Given the description of an element on the screen output the (x, y) to click on. 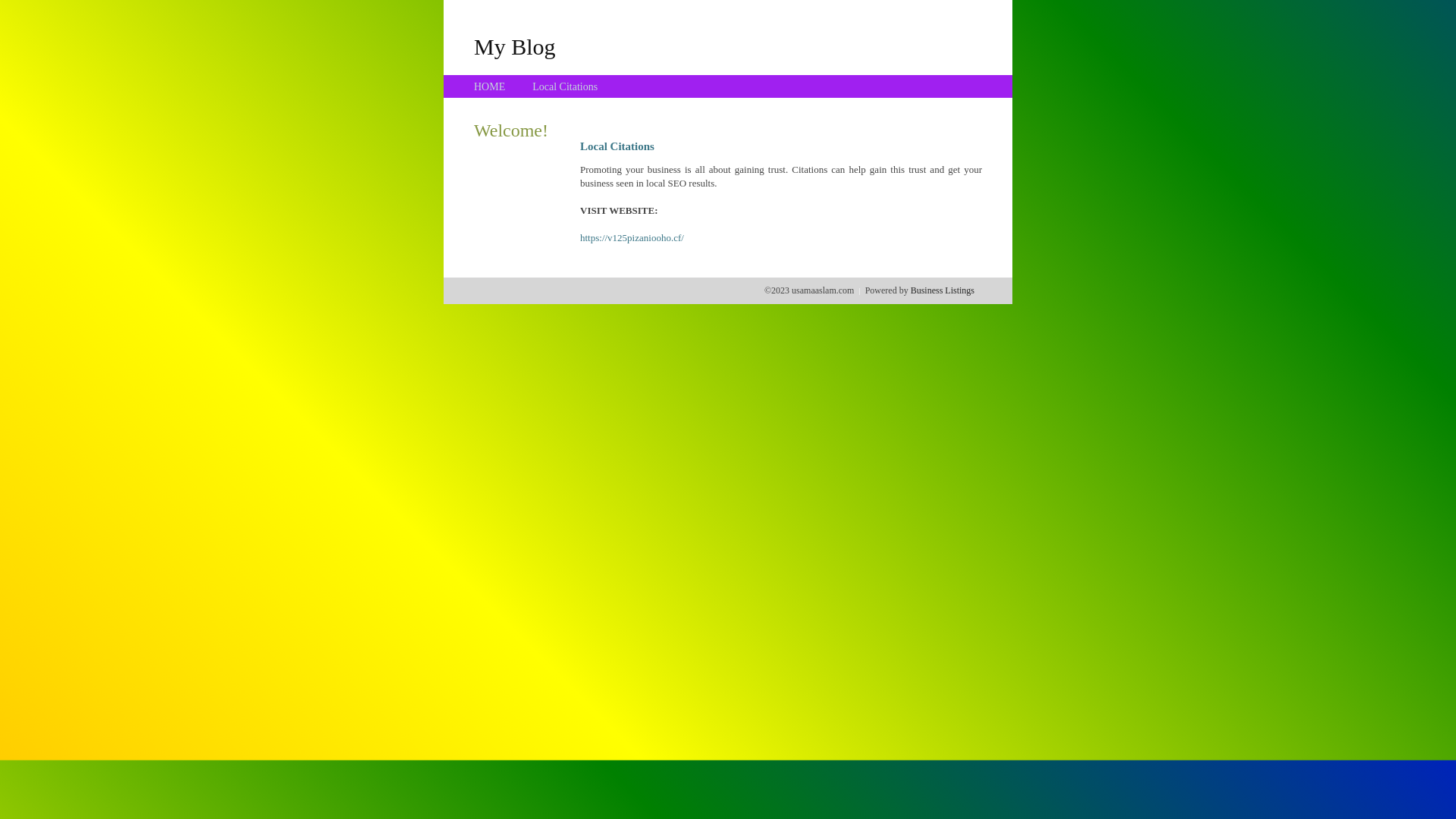
Business Listings Element type: text (942, 290)
My Blog Element type: text (514, 46)
https://v125pizaniooho.cf/ Element type: text (632, 237)
HOME Element type: text (489, 86)
Local Citations Element type: text (564, 86)
